Given the description of an element on the screen output the (x, y) to click on. 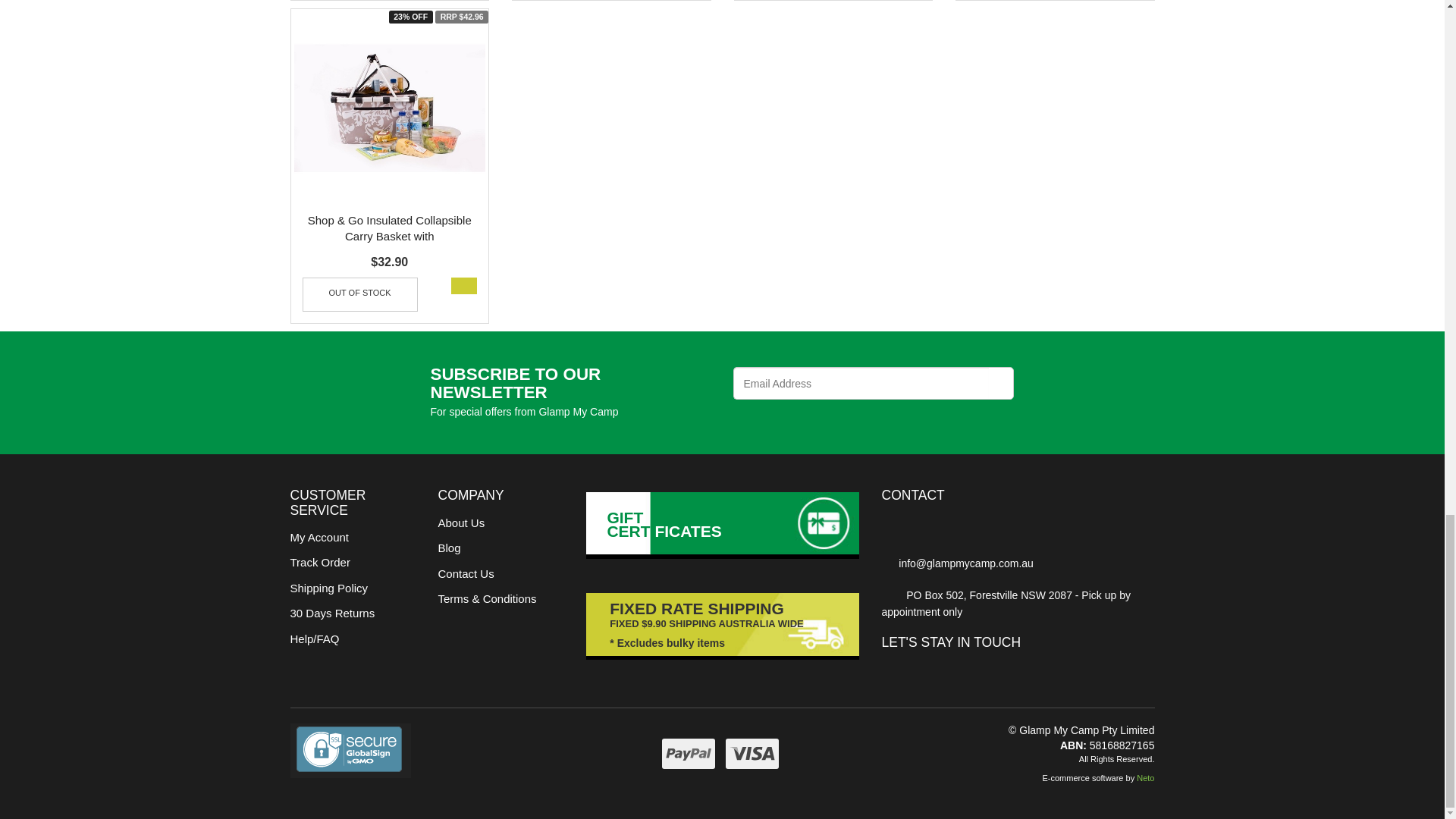
Notify Me When Back In Stock (358, 294)
